Given the description of an element on the screen output the (x, y) to click on. 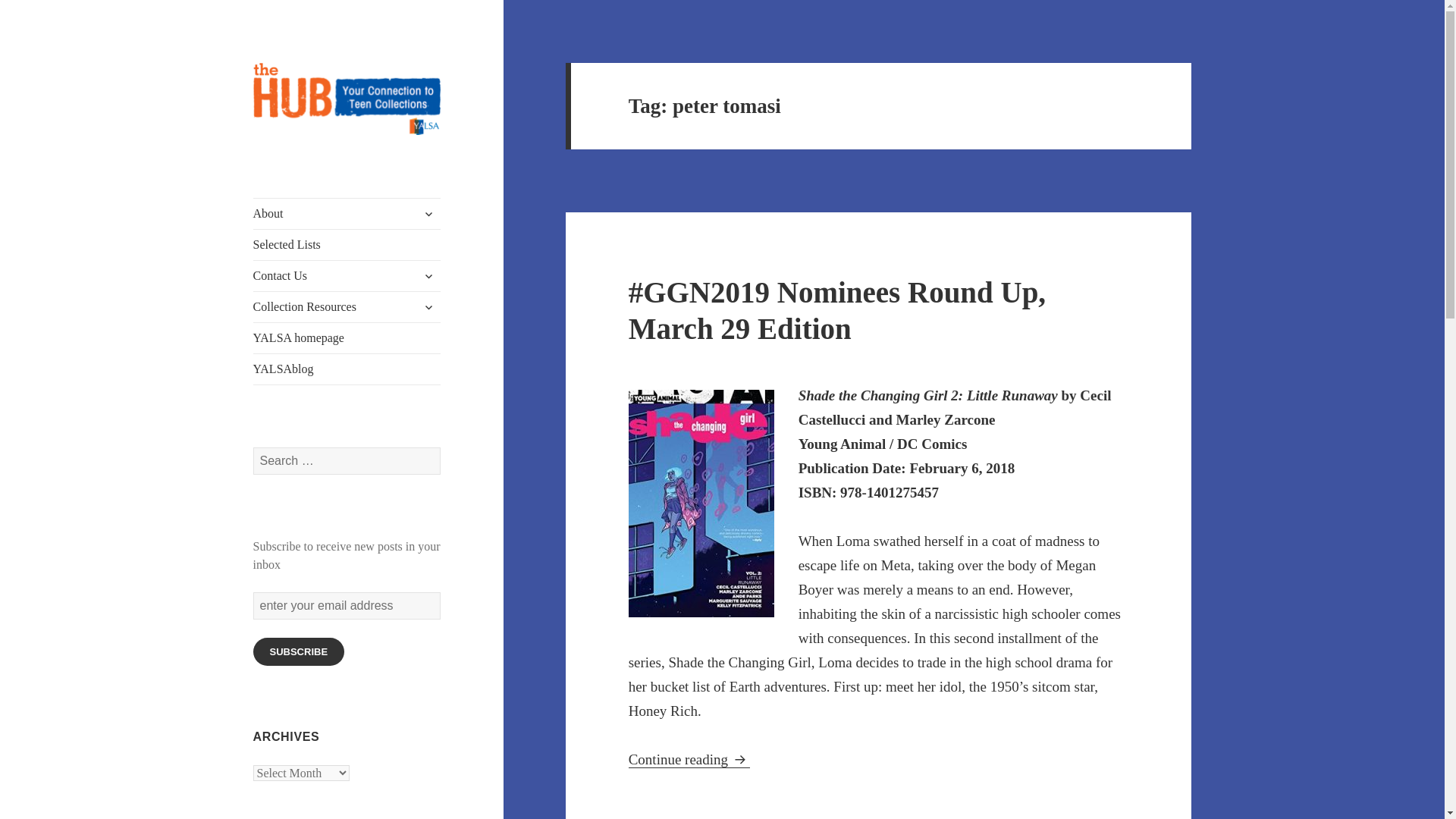
Contact Us (347, 276)
YALSAblog (347, 368)
expand child menu (428, 275)
Collection Resources (347, 306)
Selected Lists (347, 245)
expand child menu (428, 306)
About (347, 214)
SUBSCRIBE (299, 651)
